Given the description of an element on the screen output the (x, y) to click on. 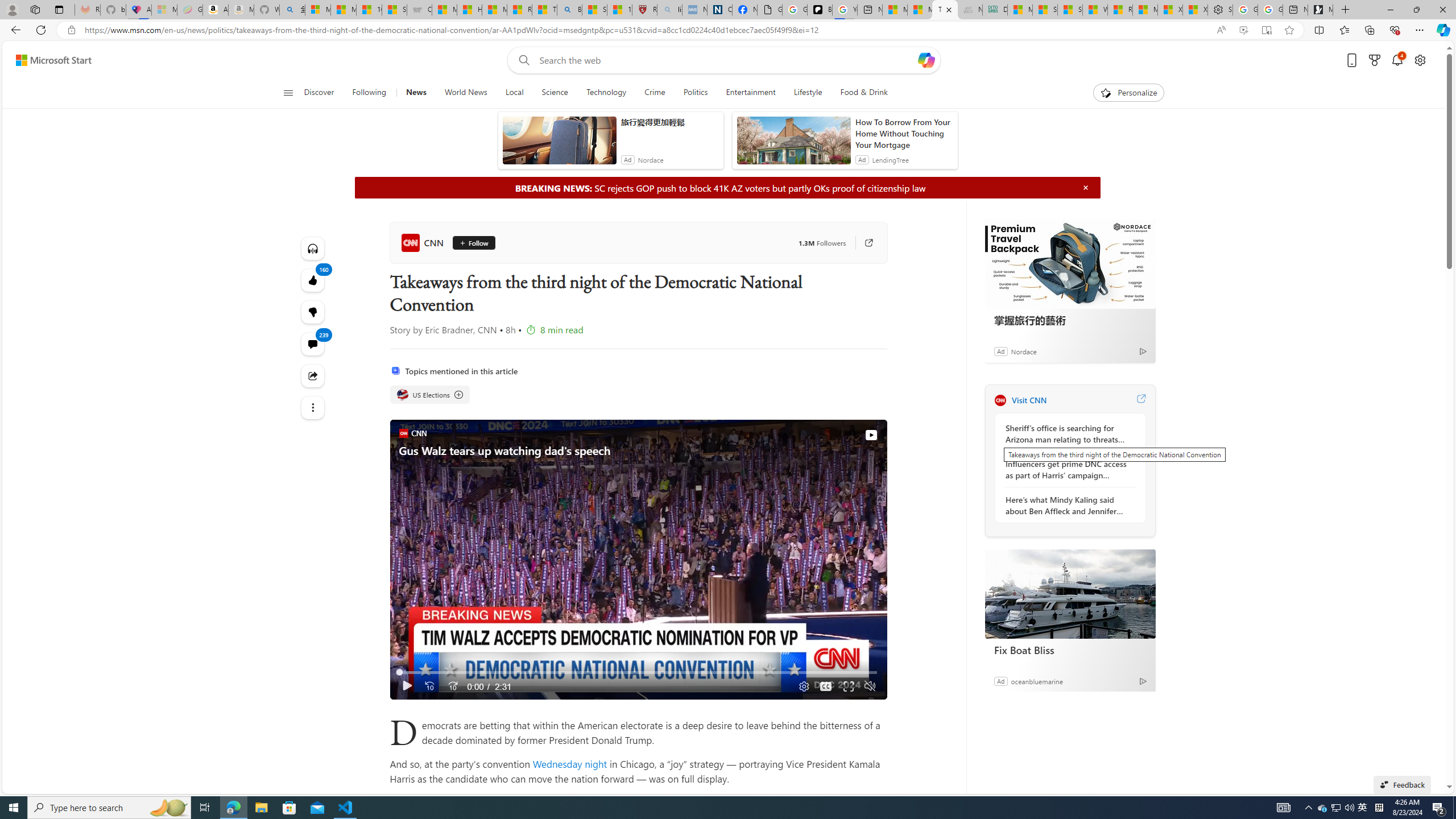
Open settings (1420, 60)
View comments 239 Comment (312, 343)
Web search (520, 60)
Crime (654, 92)
CNN (424, 242)
Entertainment (750, 92)
Seek Forward (452, 686)
View on Watch (870, 434)
Crime (655, 92)
Seek Back (429, 686)
